Given the description of an element on the screen output the (x, y) to click on. 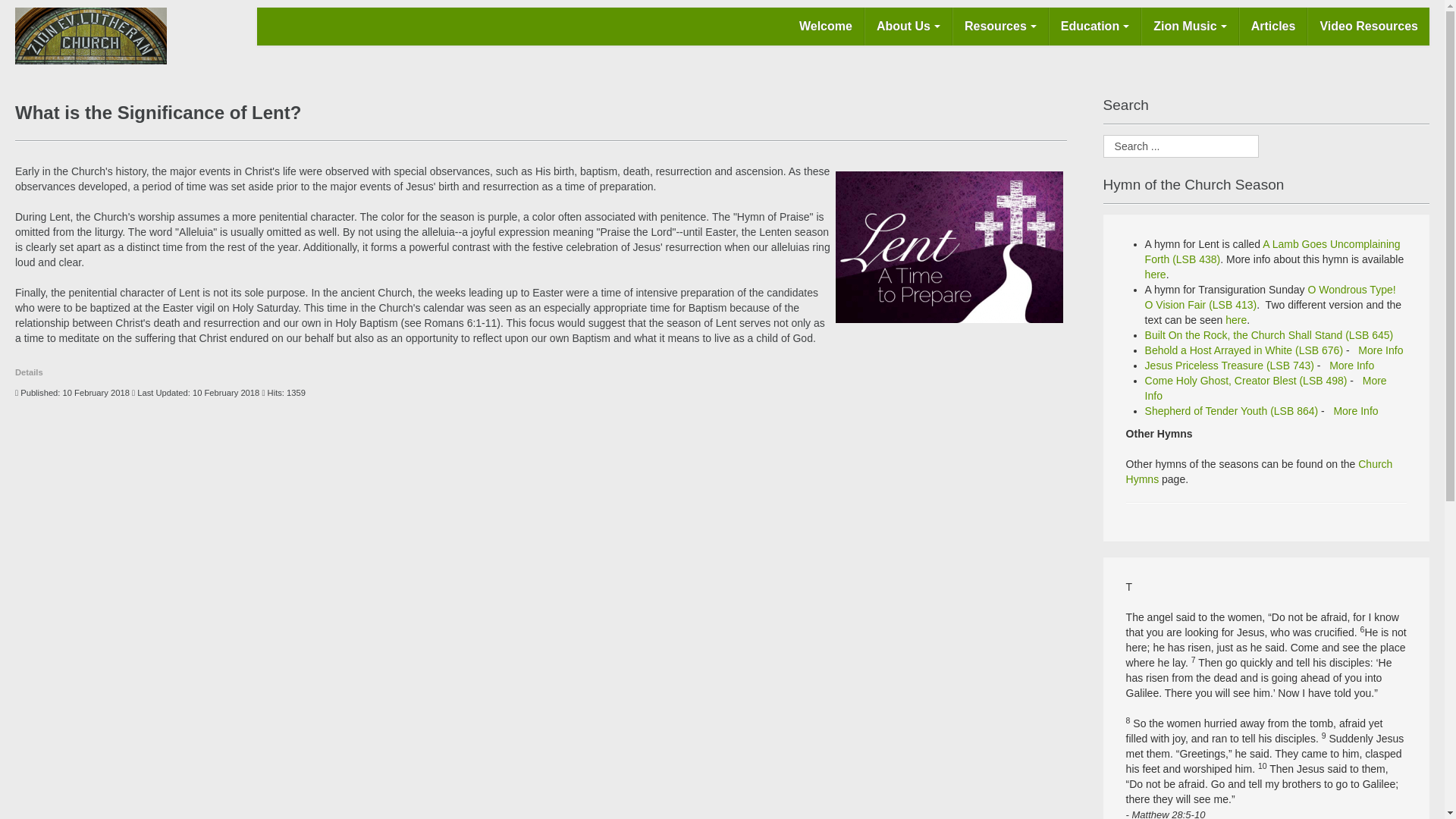
Welcome (825, 26)
Search ... (1181, 146)
Articles (1273, 26)
here (1155, 274)
Video Resources (1368, 26)
Search ... (1181, 146)
About Us (908, 26)
Resources (1000, 26)
Education (1094, 26)
Zion Music (1190, 26)
